Given the description of an element on the screen output the (x, y) to click on. 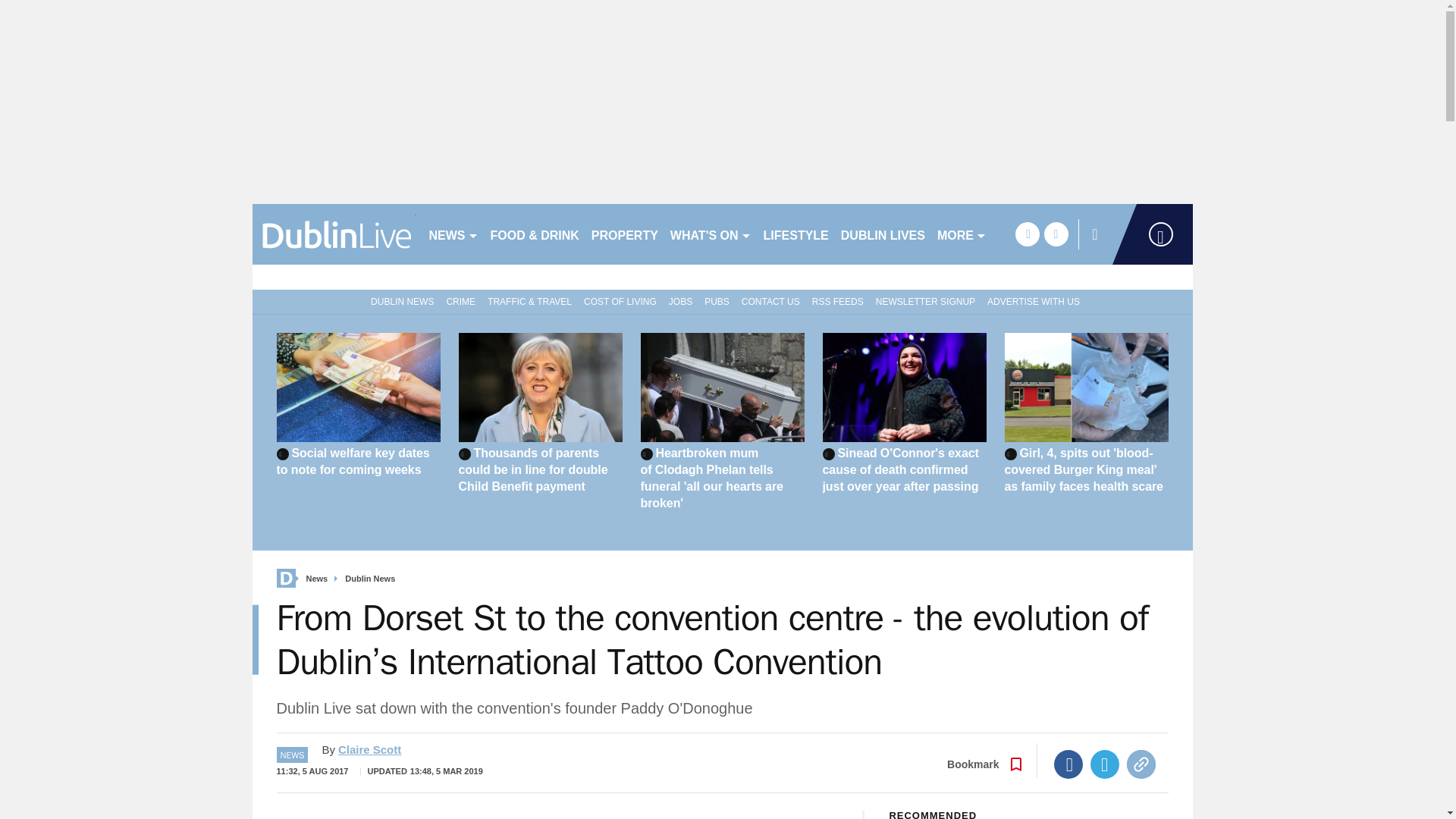
LIFESTYLE (795, 233)
facebook (1026, 233)
PROPERTY (624, 233)
DUBLIN LIVES (882, 233)
twitter (1055, 233)
Twitter (1104, 764)
Facebook (1068, 764)
MORE (961, 233)
dublinlive (332, 233)
NEWS (453, 233)
WHAT'S ON (710, 233)
